Given the description of an element on the screen output the (x, y) to click on. 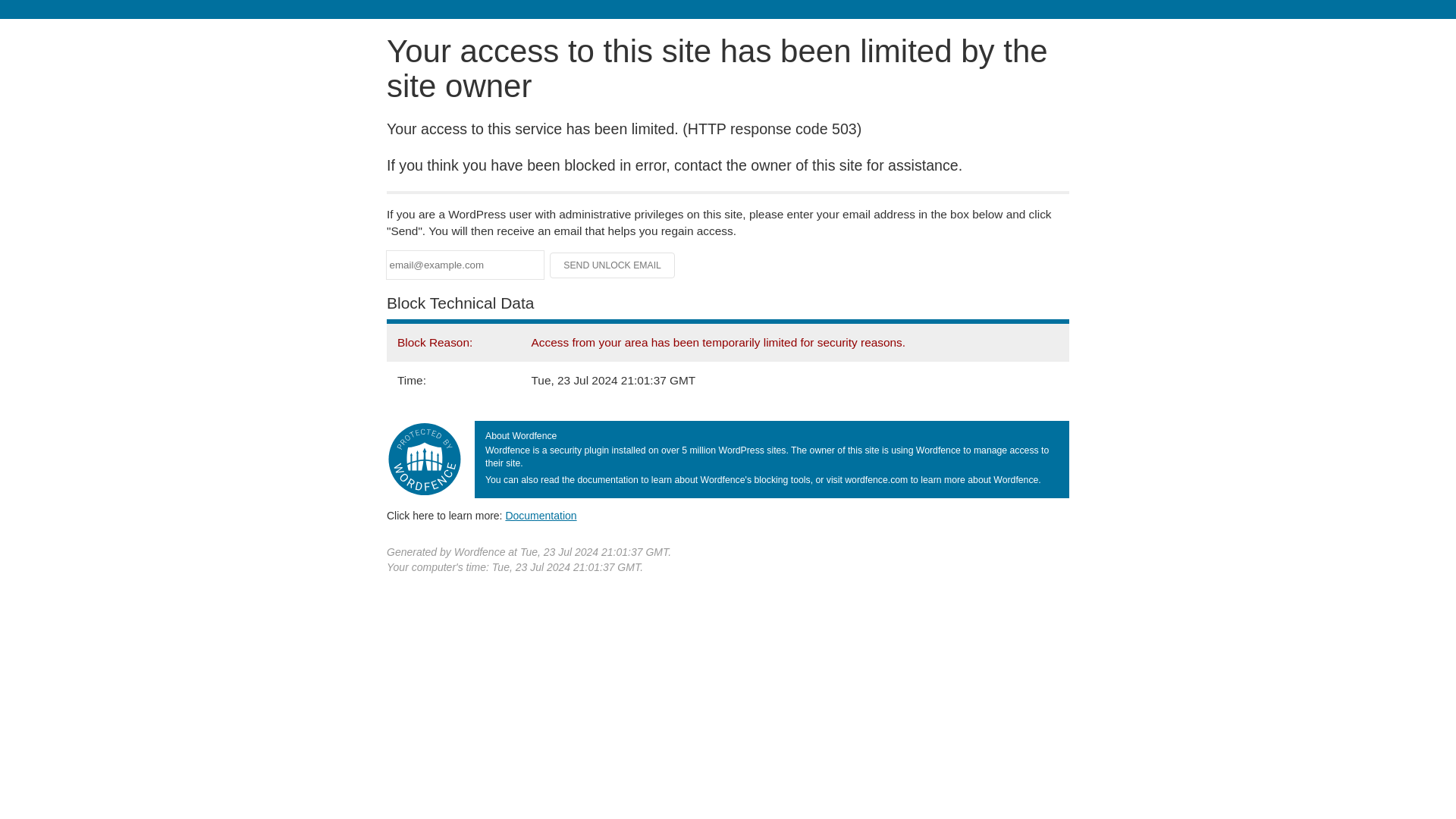
Send Unlock Email (612, 265)
Send Unlock Email (612, 265)
Documentation (540, 515)
